Given the description of an element on the screen output the (x, y) to click on. 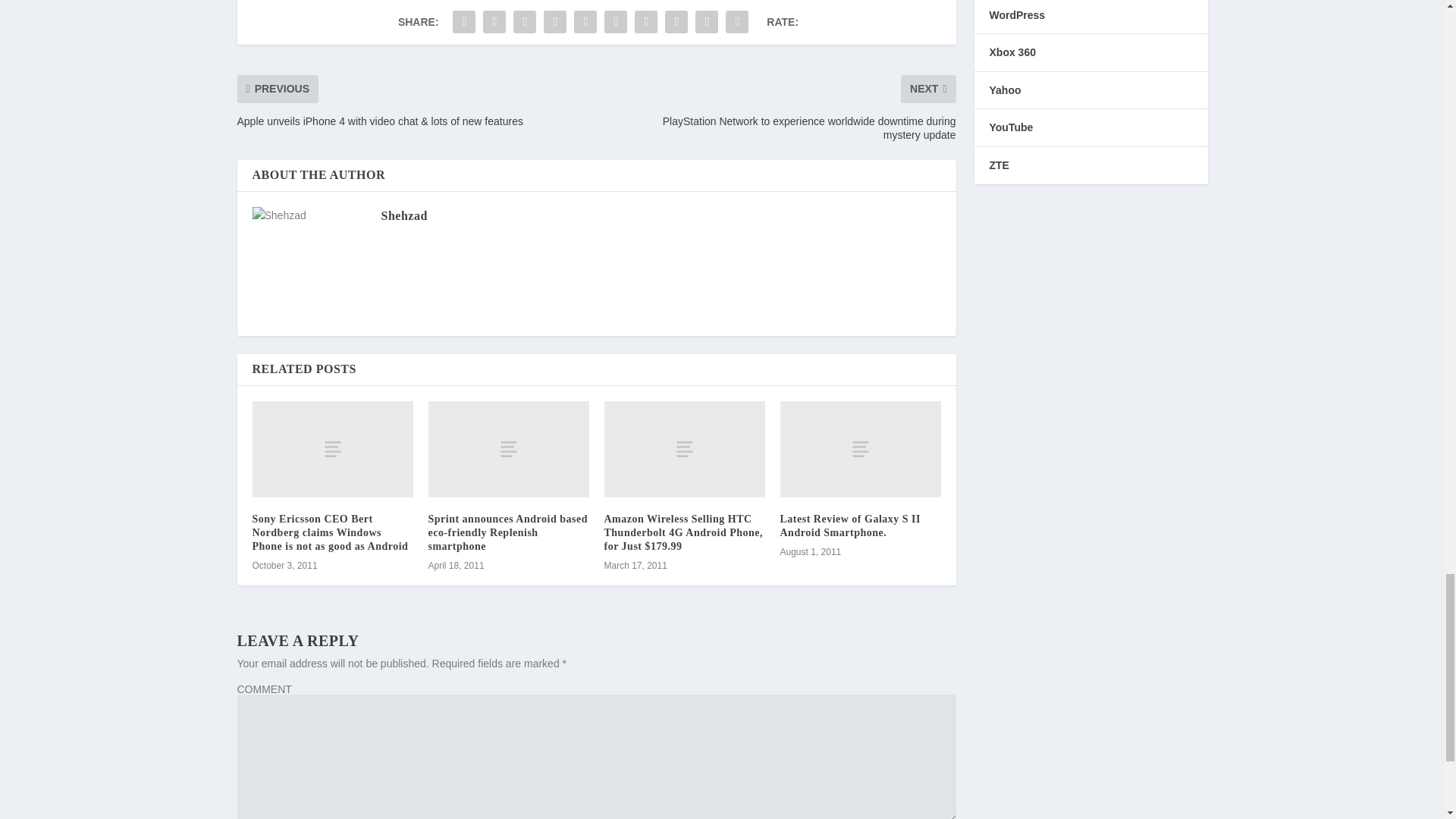
Shehzad (403, 215)
Latest Review of Galaxy S II Android Smartphone. (849, 525)
